Given the description of an element on the screen output the (x, y) to click on. 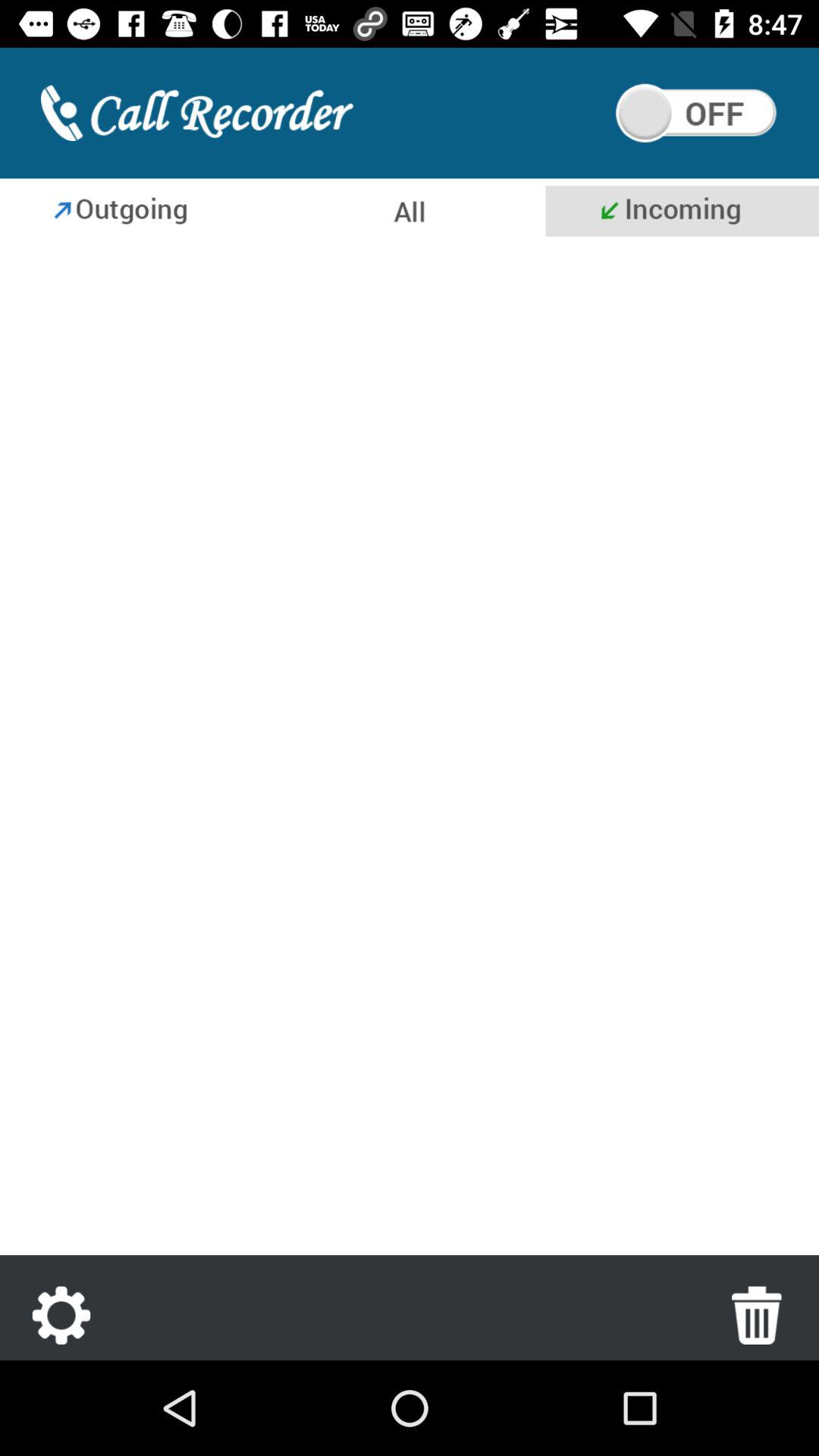
see incoming calls (681, 210)
